Given the description of an element on the screen output the (x, y) to click on. 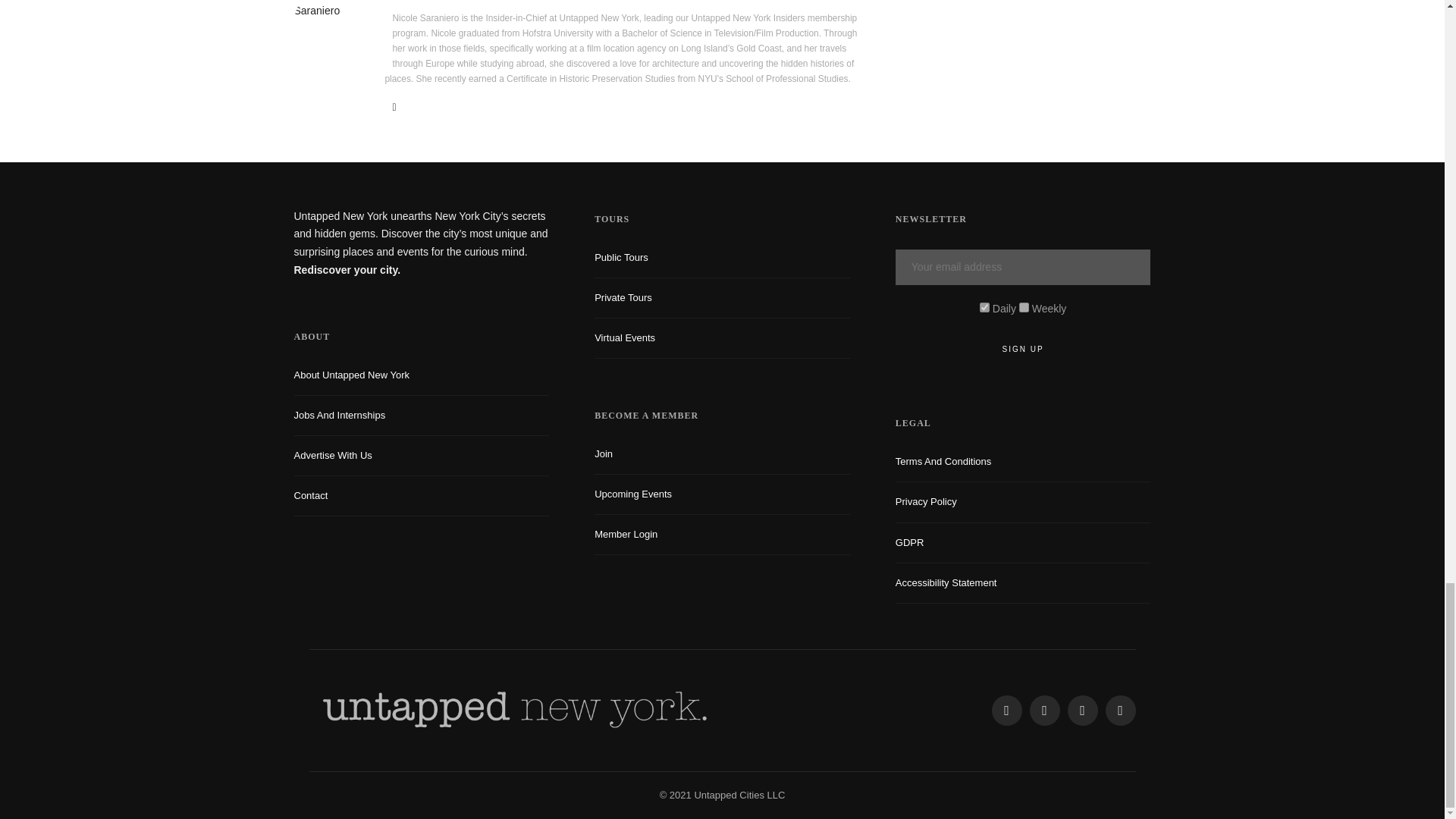
Sign up (1023, 349)
e99a09560c (984, 307)
7cff6a70fd (1024, 307)
